Given the description of an element on the screen output the (x, y) to click on. 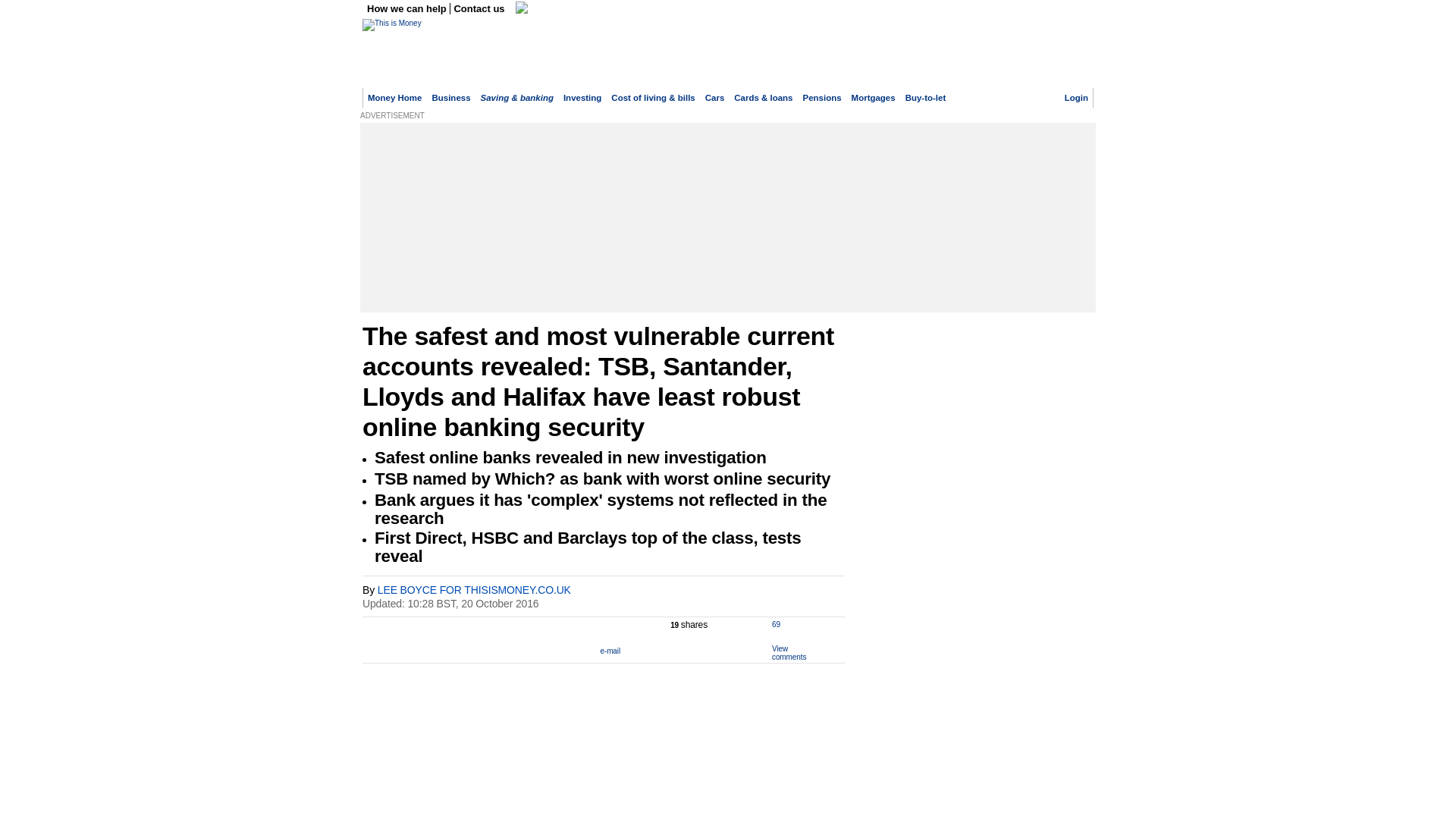
How we can help (407, 8)
Login (1075, 97)
Mortgages (873, 97)
Contact us (479, 8)
Business (450, 97)
Money Home (395, 97)
Pensions (822, 97)
Cars (714, 97)
Buy-to-let (925, 97)
Investing (582, 97)
